Given the description of an element on the screen output the (x, y) to click on. 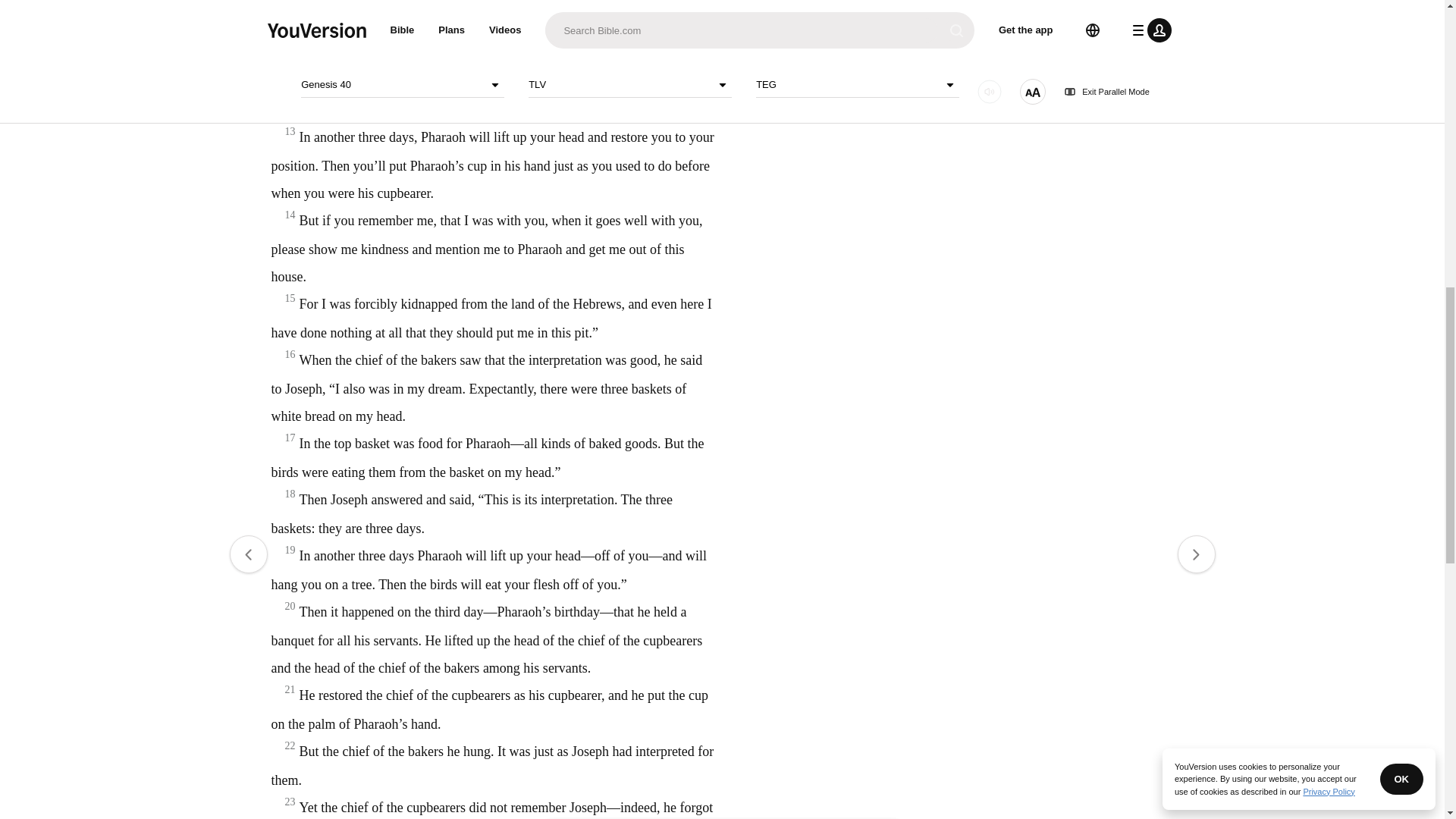
Genesis 40: TLV (618, 47)
Sign up or sign in (774, 245)
